Given the description of an element on the screen output the (x, y) to click on. 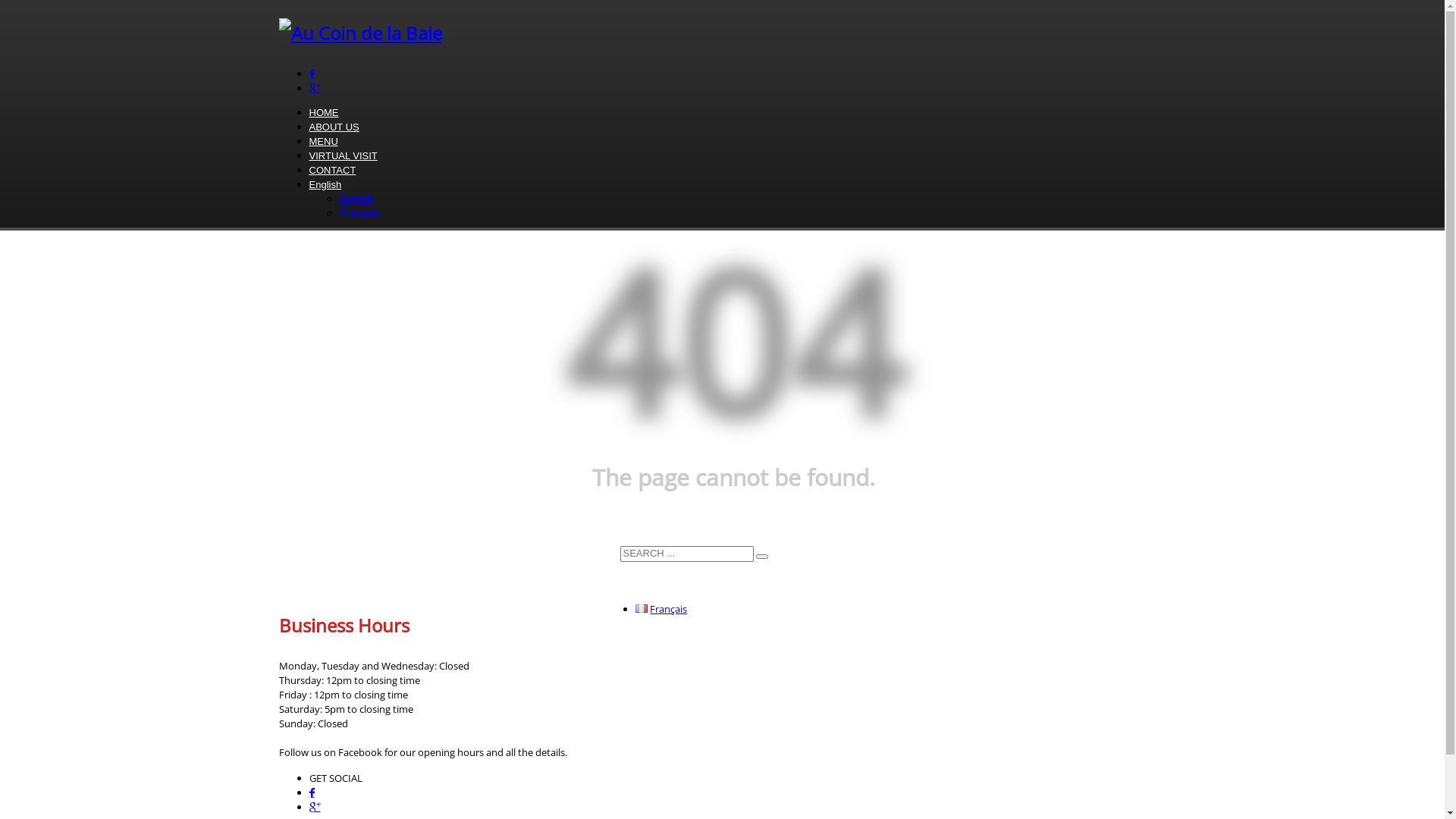
Au Coin de la Baie the French cuisine restaurant in Chambly Element type: hover (360, 33)
Facebook Element type: hover (311, 73)
ABOUT US Element type: text (334, 126)
VIRTUAL VISIT Element type: text (343, 155)
English Element type: text (325, 184)
English Element type: text (356, 197)
Facebook Element type: hover (311, 792)
HOME Element type: text (323, 112)
Google Element type: hover (314, 807)
Google Element type: hover (314, 88)
MENU Element type: text (323, 141)
CONTACT Element type: text (332, 169)
go Element type: text (761, 556)
